Given the description of an element on the screen output the (x, y) to click on. 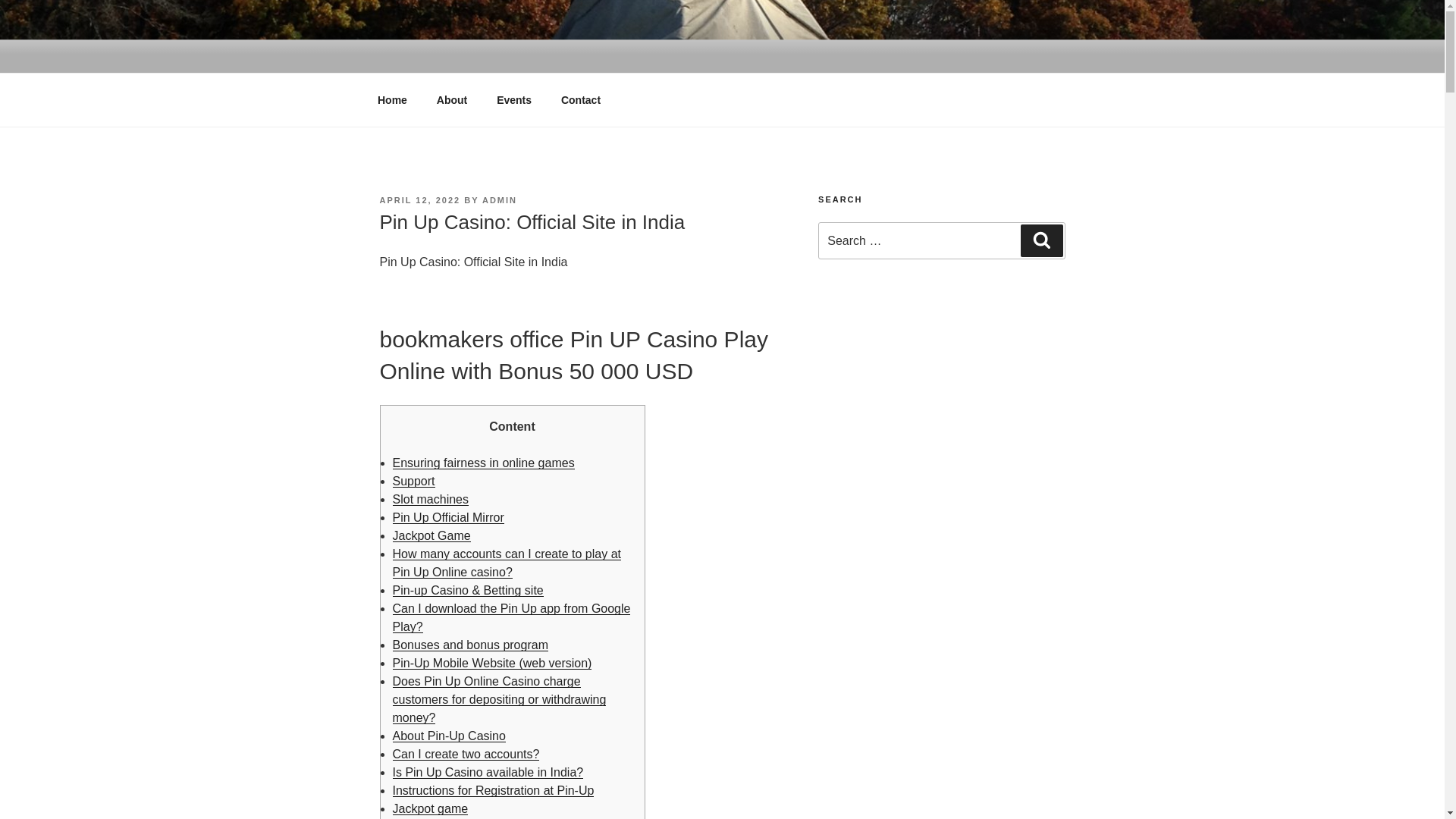
About (451, 99)
APRIL 12, 2022 (419, 199)
Slot machines (430, 499)
Jackpot Game (431, 535)
Is Pin Up Casino available in India? (488, 771)
Can I create two accounts? (466, 753)
Contact (579, 99)
Pin Up Official Mirror (448, 517)
Events (513, 99)
